Given the description of an element on the screen output the (x, y) to click on. 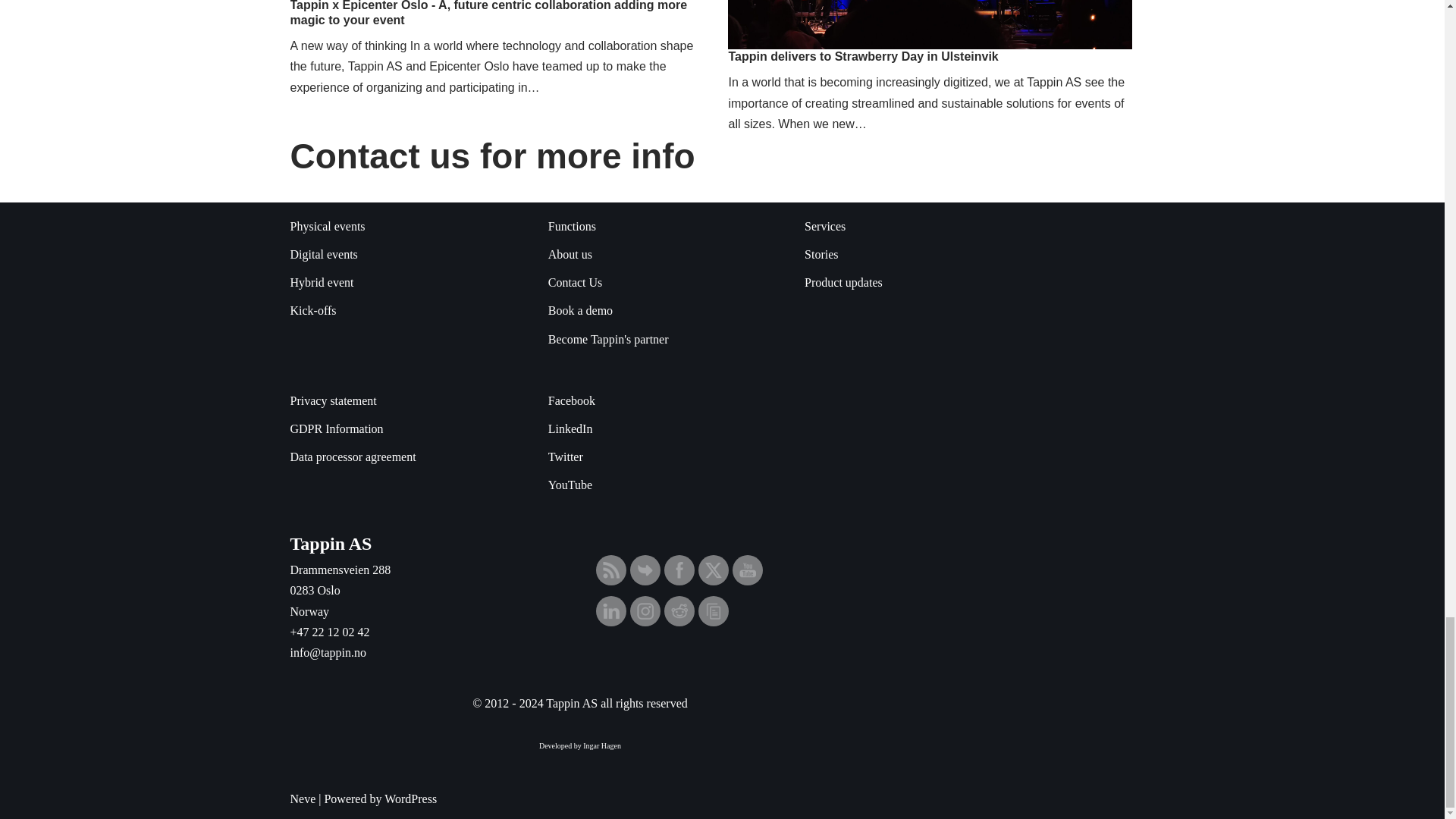
Twitter (713, 570)
Follow by email (645, 569)
RSS (611, 569)
Facebook (679, 569)
